Given the description of an element on the screen output the (x, y) to click on. 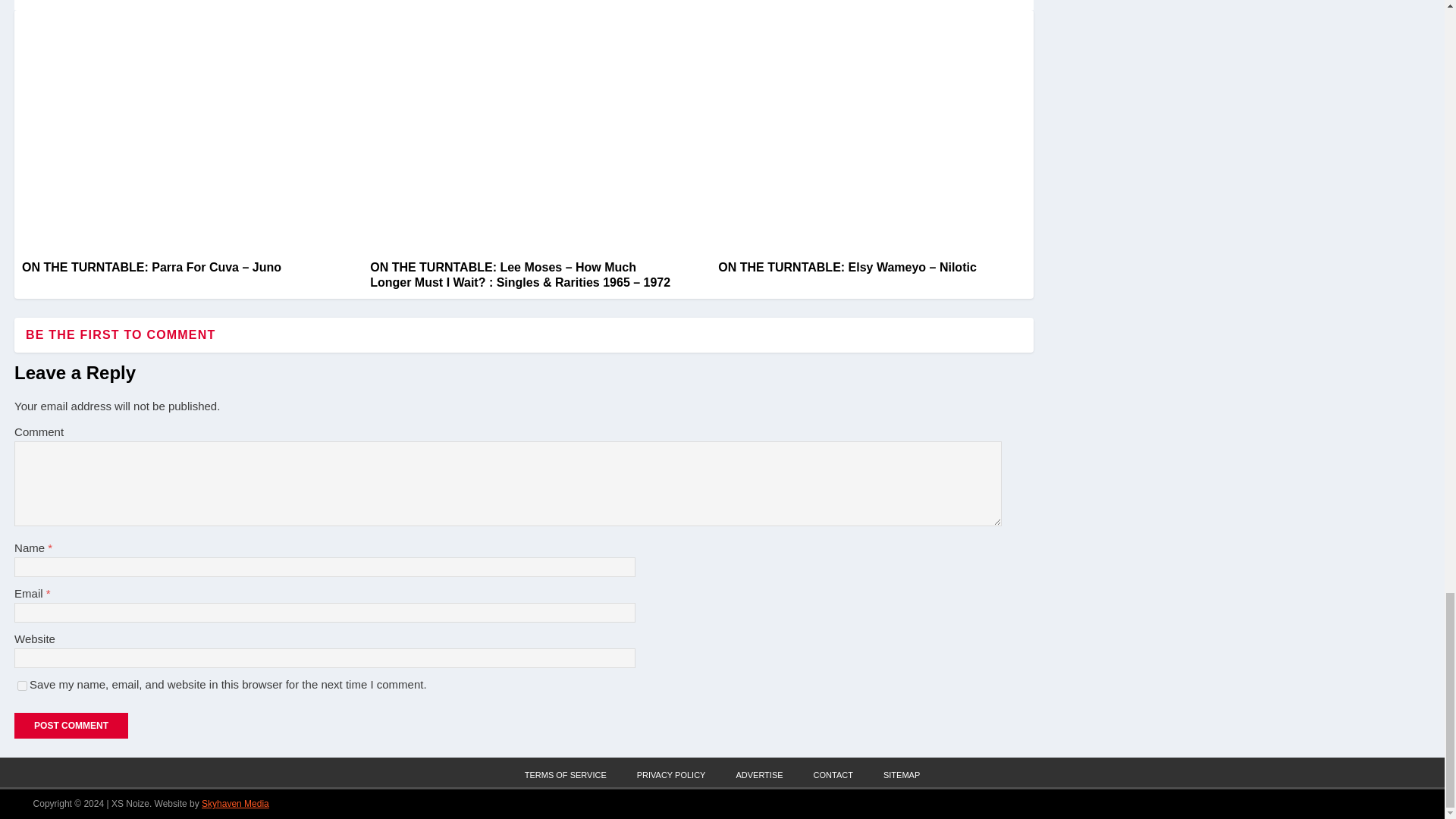
yes (22, 685)
Post Comment (71, 725)
